Given the description of an element on the screen output the (x, y) to click on. 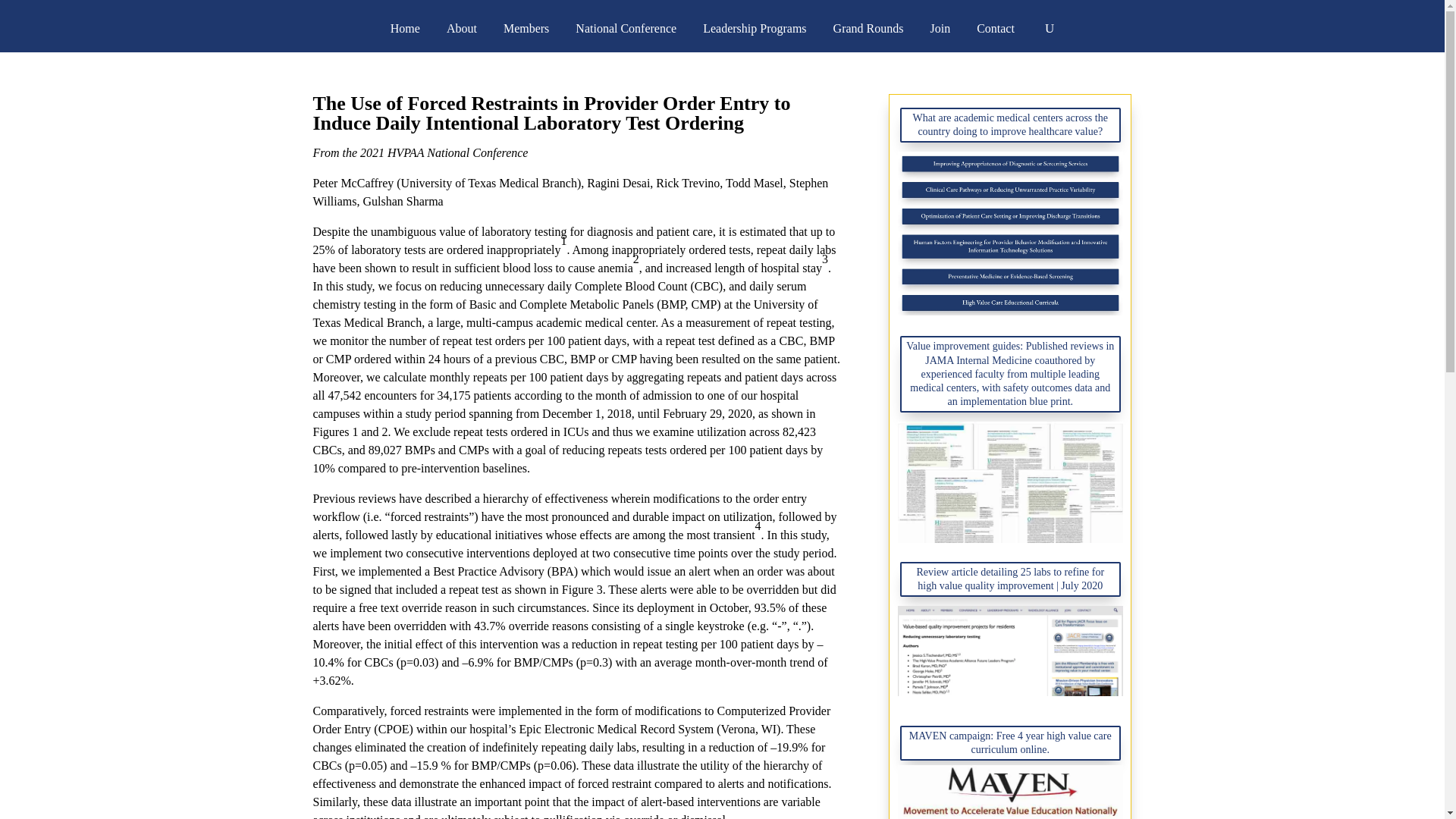
Members (525, 28)
About (461, 28)
National Conference (626, 28)
Grand Rounds (868, 28)
Home (405, 28)
Leadership Programs (754, 28)
Contact (995, 28)
